Given the description of an element on the screen output the (x, y) to click on. 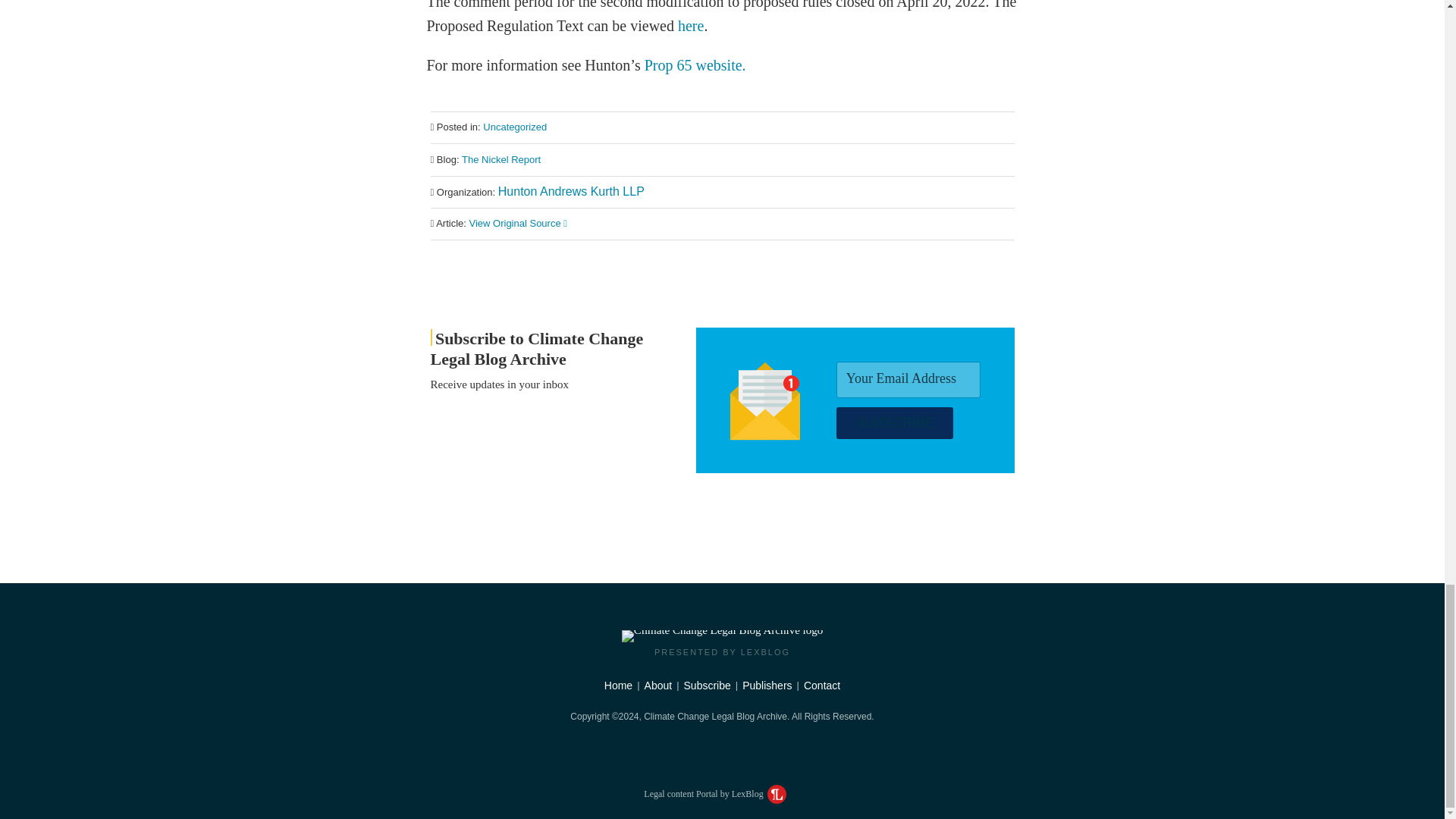
Publishers (767, 685)
SUBSCRIBE (894, 422)
Uncategorized (515, 126)
SUBSCRIBE (894, 422)
About (658, 685)
Home (617, 685)
The Nickel Report (500, 159)
Subscribe (707, 685)
Legal content Portal by LexBlog LexBlog Logo (714, 793)
here (690, 25)
View Original Source (517, 223)
Prop 65 website. (695, 64)
LexBlog Logo (776, 793)
Hunton Andrews Kurth LLP (571, 191)
Contact (821, 685)
